Given the description of an element on the screen output the (x, y) to click on. 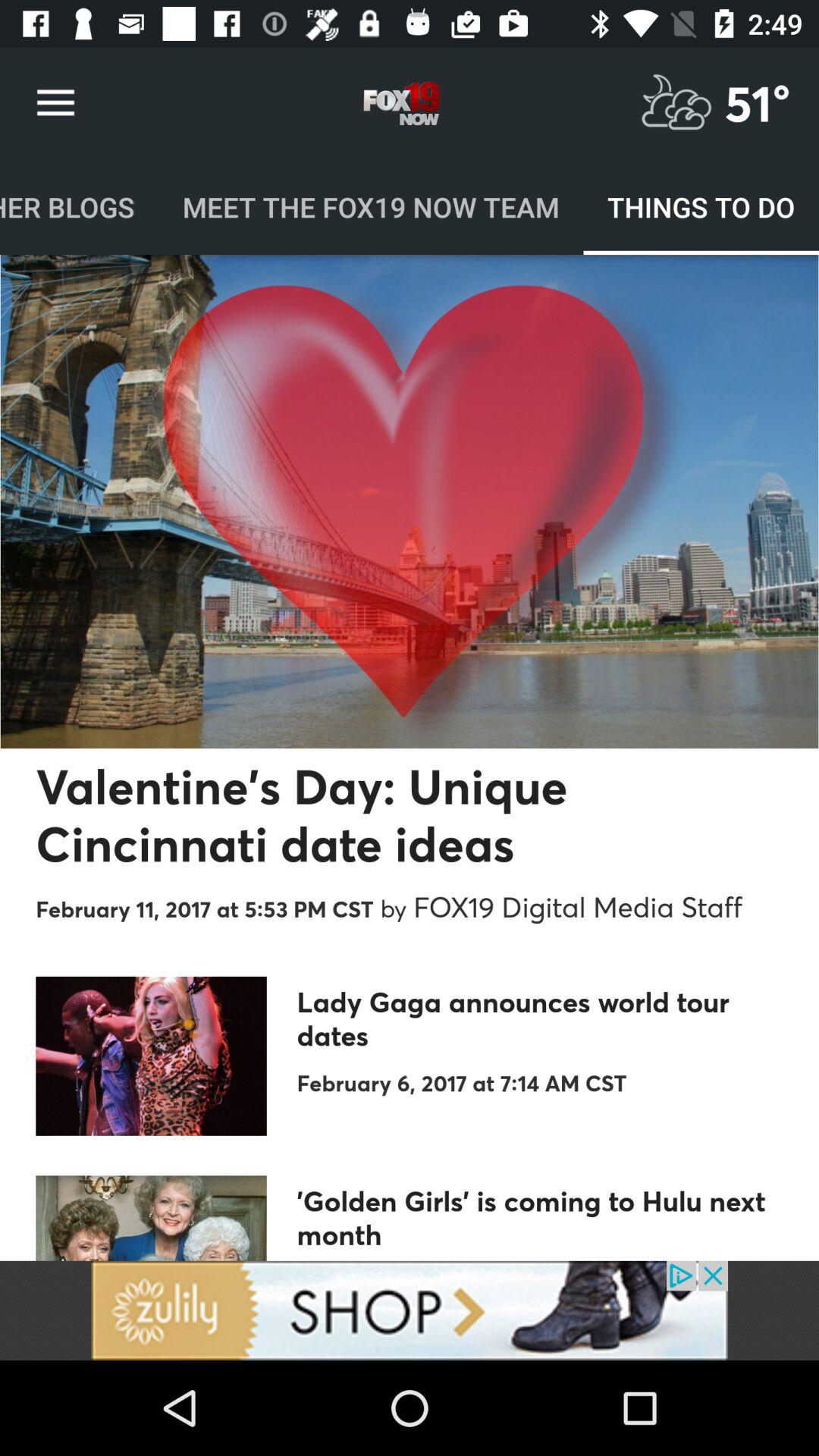
advertisement link (409, 1310)
